Given the description of an element on the screen output the (x, y) to click on. 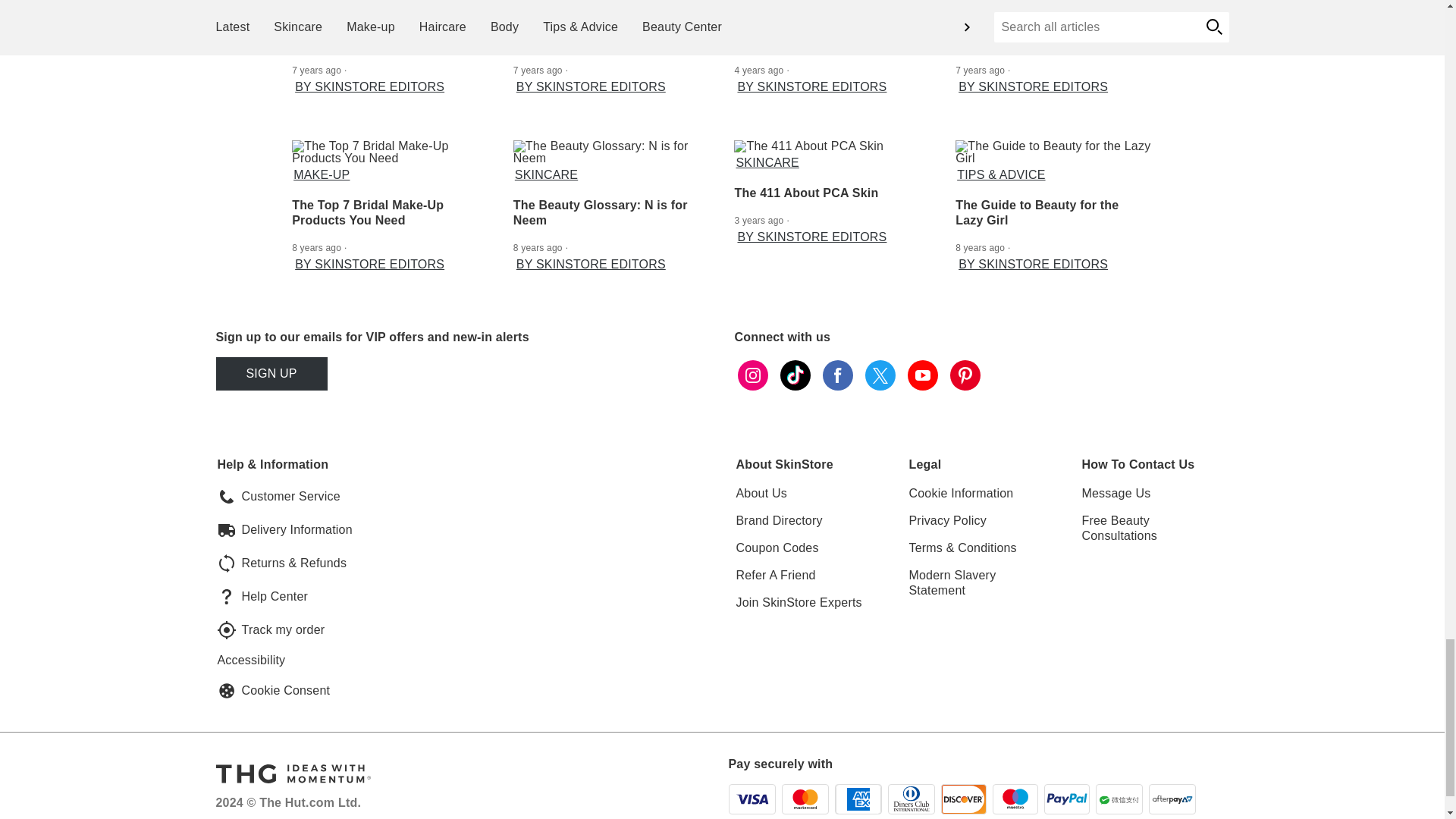
tiktok (794, 375)
twitter (879, 375)
instagram (751, 375)
facebook (837, 375)
